Given the description of an element on the screen output the (x, y) to click on. 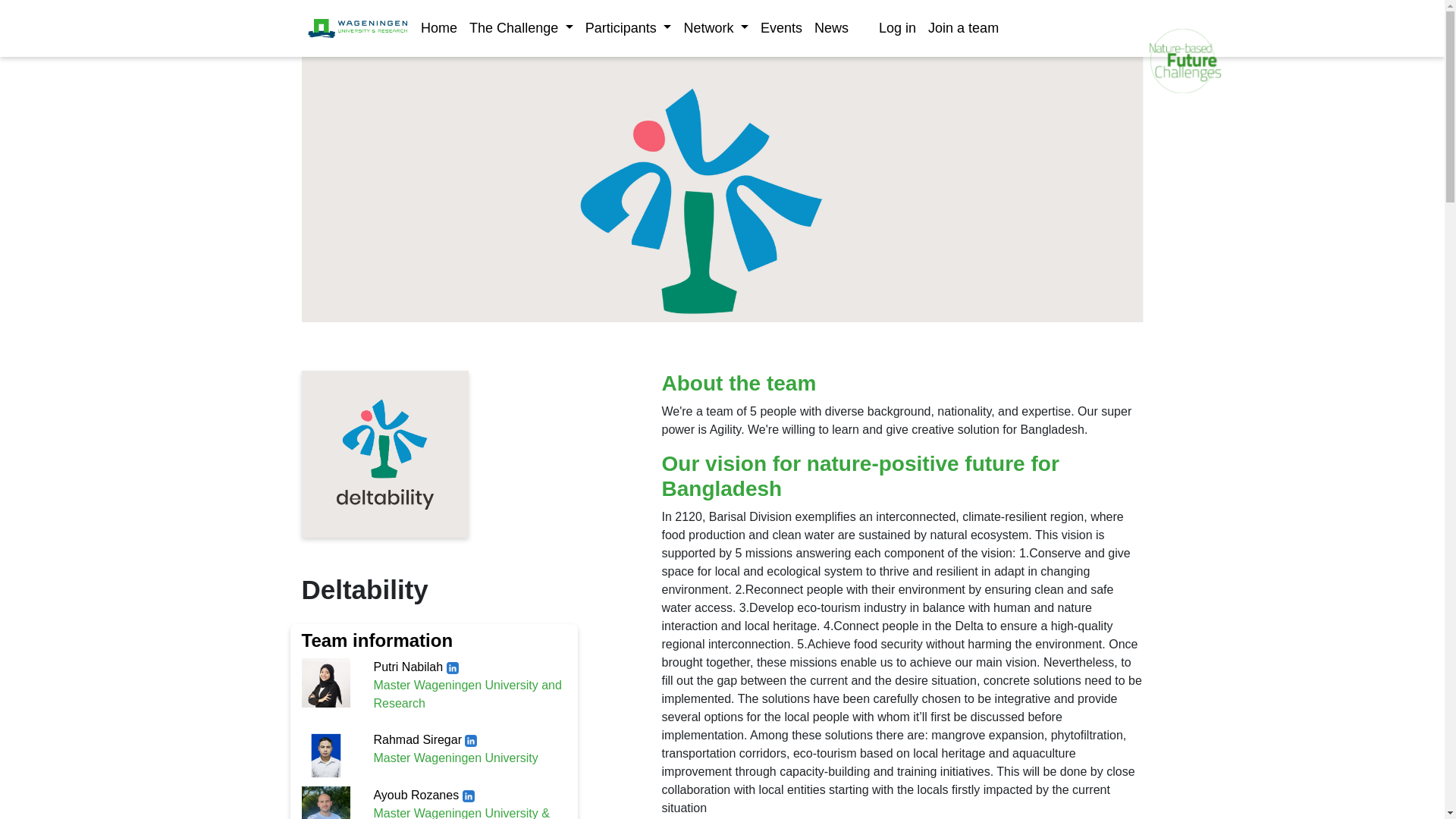
Participants (628, 28)
The Challenge (521, 28)
Home (438, 28)
Join a team (962, 28)
Network (715, 28)
Events (781, 28)
News (831, 28)
Log in (896, 28)
